Given the description of an element on the screen output the (x, y) to click on. 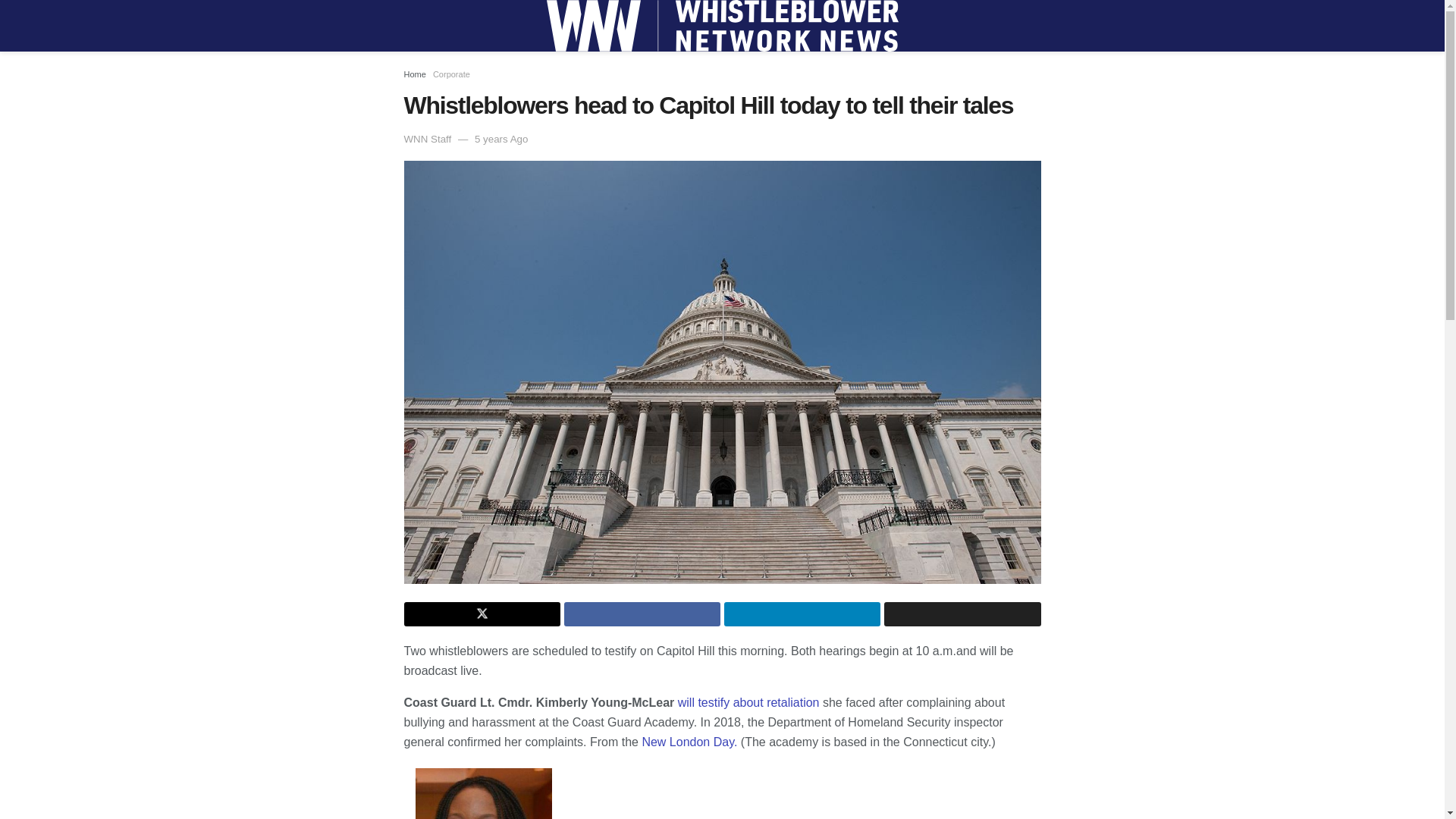
New London Day. (687, 741)
will testify about retaliation (748, 702)
Corporate (451, 73)
Home (414, 73)
